Given the description of an element on the screen output the (x, y) to click on. 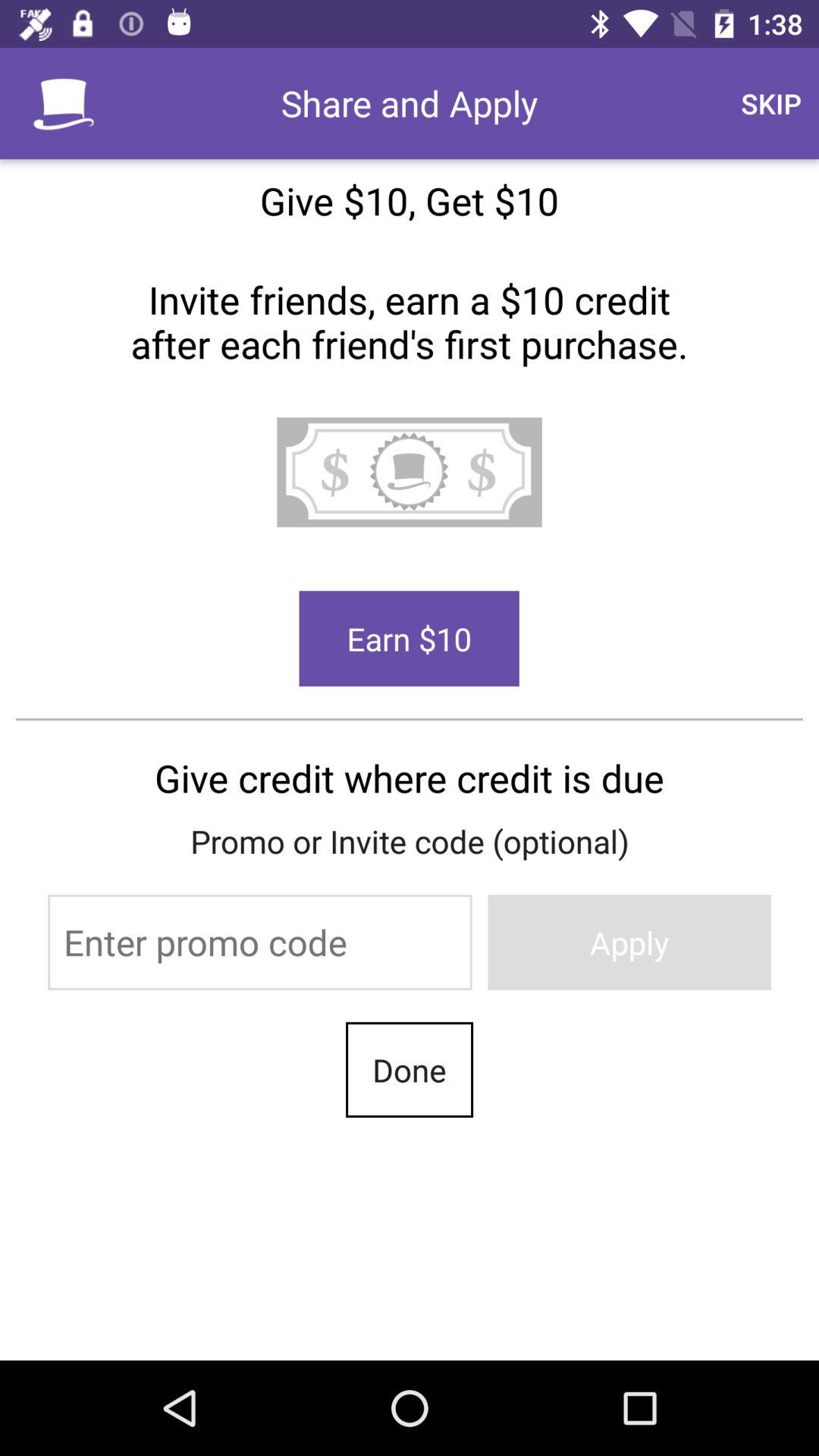
click the item to the left of the apply icon (259, 942)
